Given the description of an element on the screen output the (x, y) to click on. 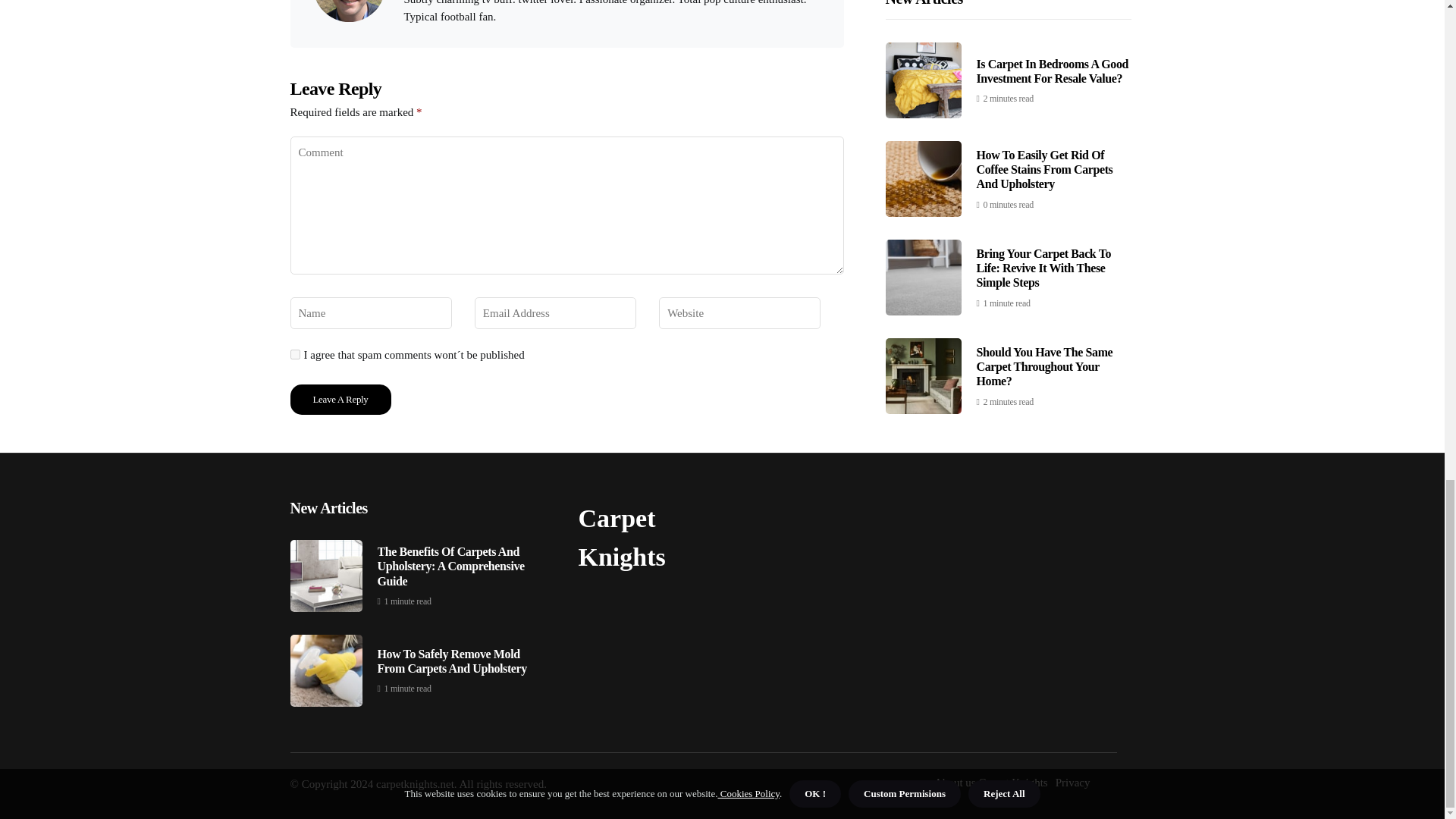
yes (294, 354)
Leave a Reply (339, 399)
Leave a Reply (339, 399)
